Given the description of an element on the screen output the (x, y) to click on. 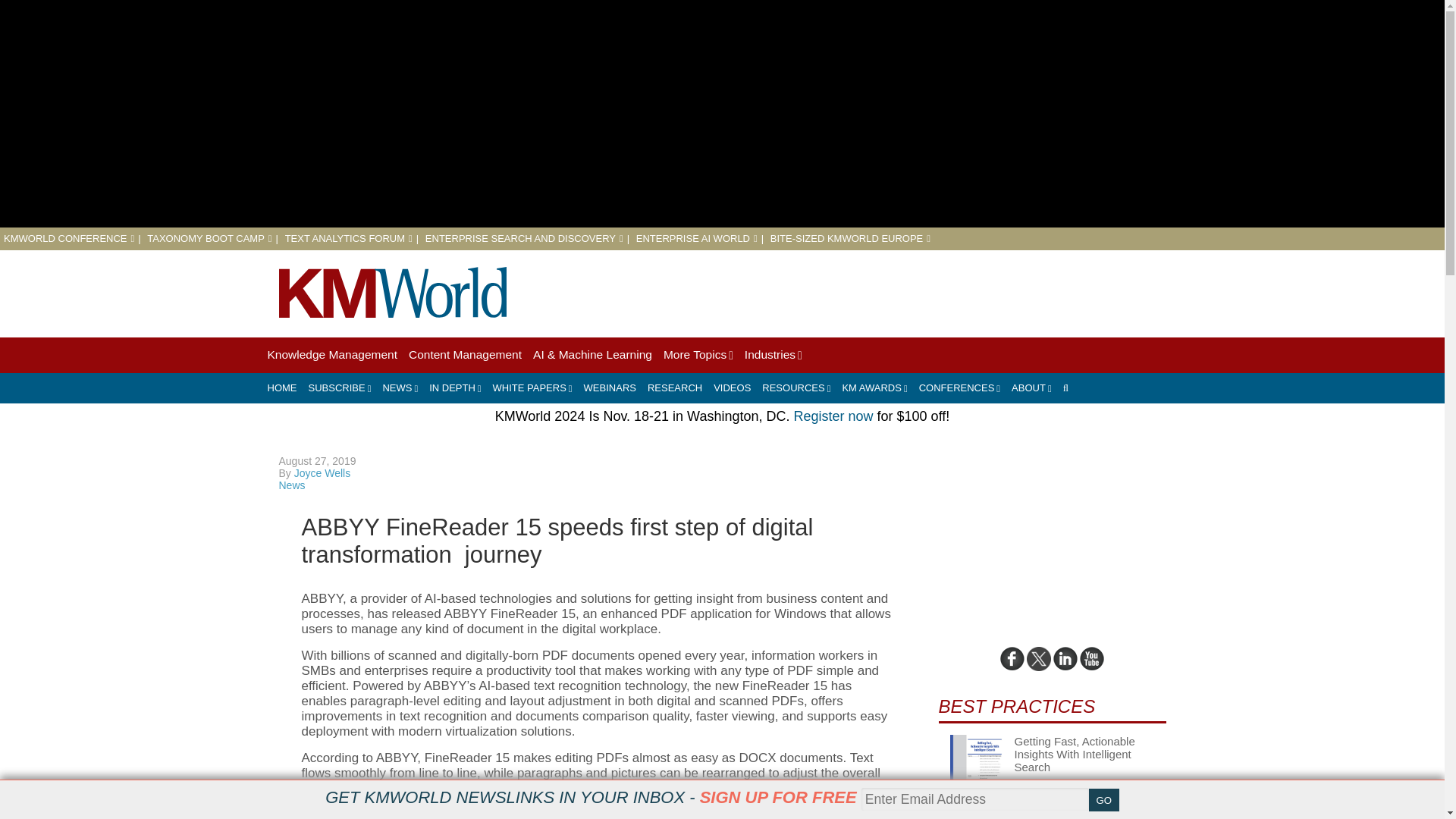
Content Management (465, 355)
Industries (773, 355)
TEXT ANALYTICS FORUM (348, 238)
Content Management (465, 355)
GET KMWORLD NEWSLINKS IN YOUR INBOX - SIGN UP FOR FREE (590, 797)
BITE-SIZED KMWORLD EUROPE (850, 238)
TAXONOMY BOOT CAMP (208, 238)
More Topics (698, 355)
Knowledge Management (331, 355)
ENTERPRISE SEARCH AND DISCOVERY (524, 238)
Knowledge Management (331, 355)
KMWORLD CONFERENCE (68, 238)
GO (1104, 799)
ENTERPRISE AI WORLD (696, 238)
